Given the description of an element on the screen output the (x, y) to click on. 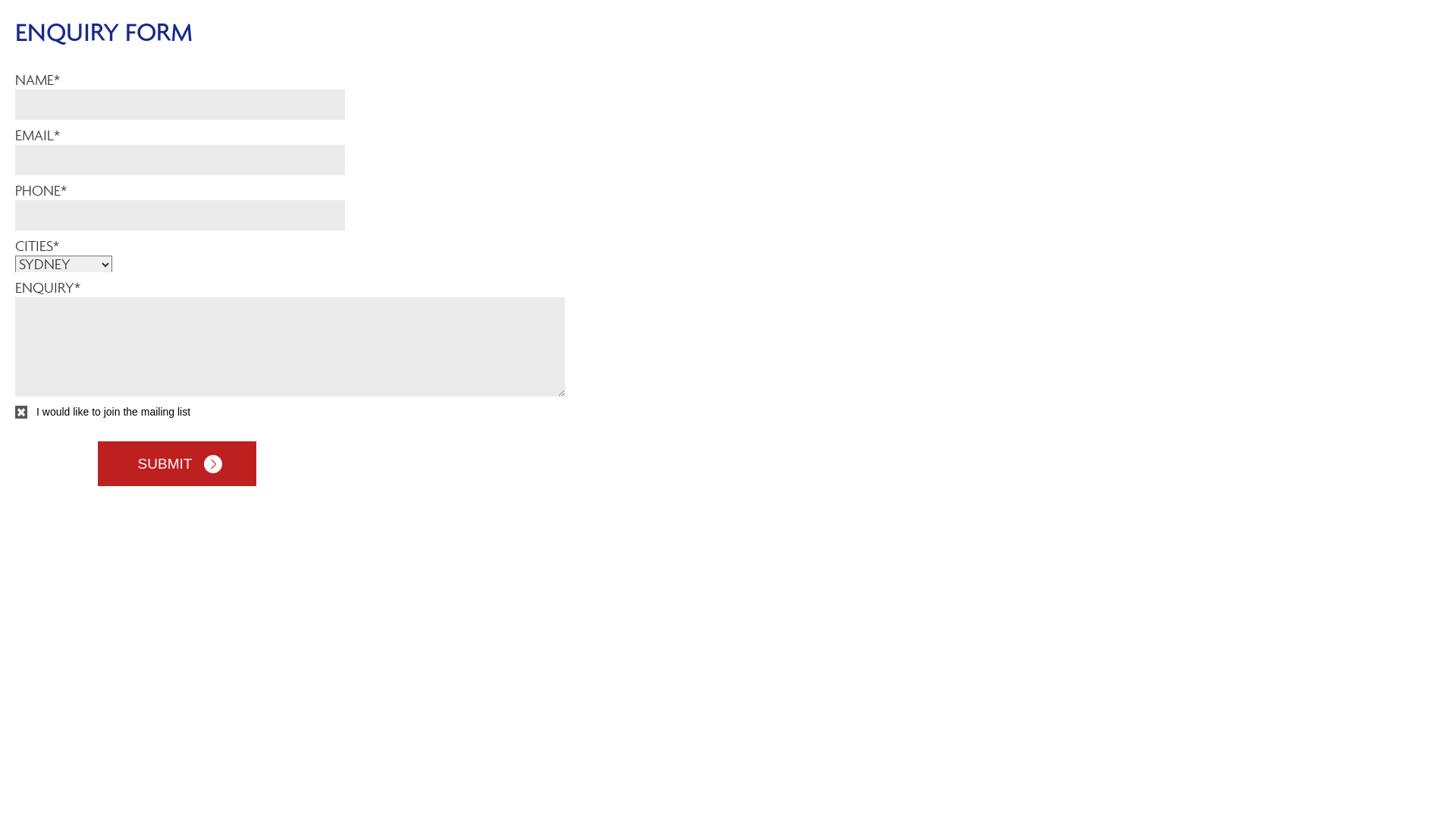
Submit Element type: text (176, 463)
